Given the description of an element on the screen output the (x, y) to click on. 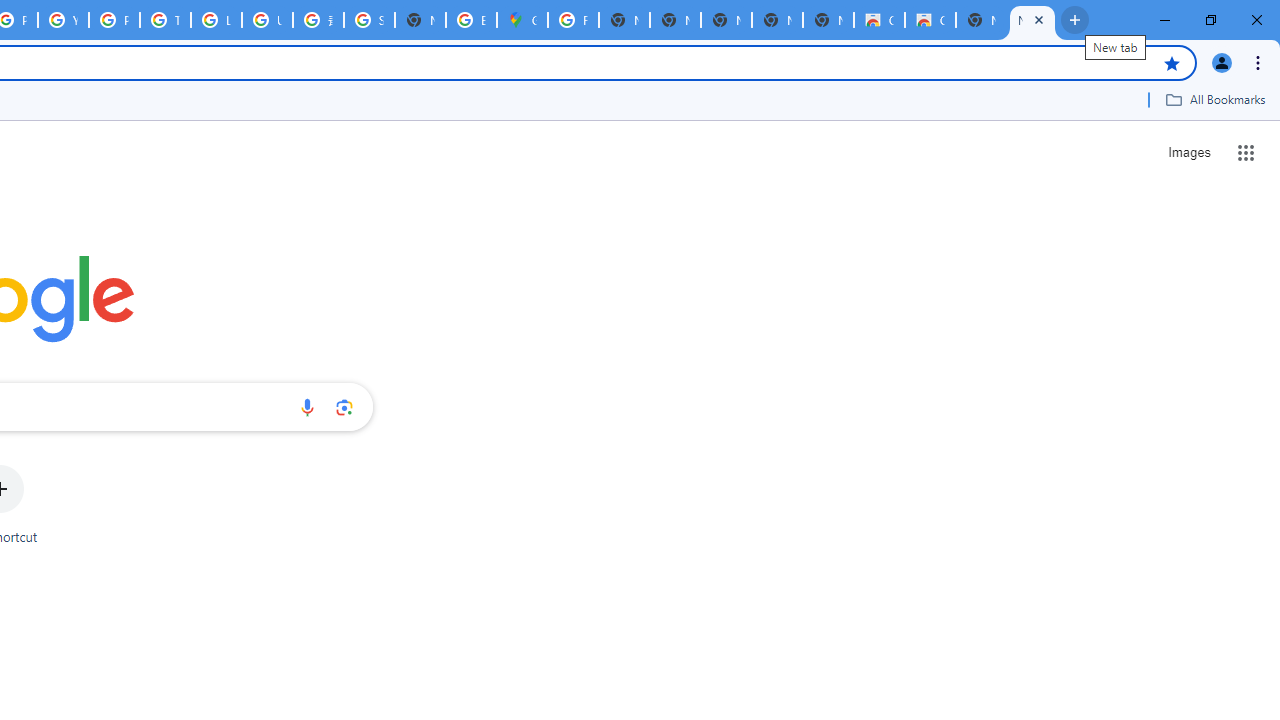
New Tab (1032, 20)
Tips & tricks for Chrome - Google Chrome Help (164, 20)
Classic Blue - Chrome Web Store (878, 20)
Google Maps (521, 20)
Explore new street-level details - Google Maps Help (470, 20)
